Given the description of an element on the screen output the (x, y) to click on. 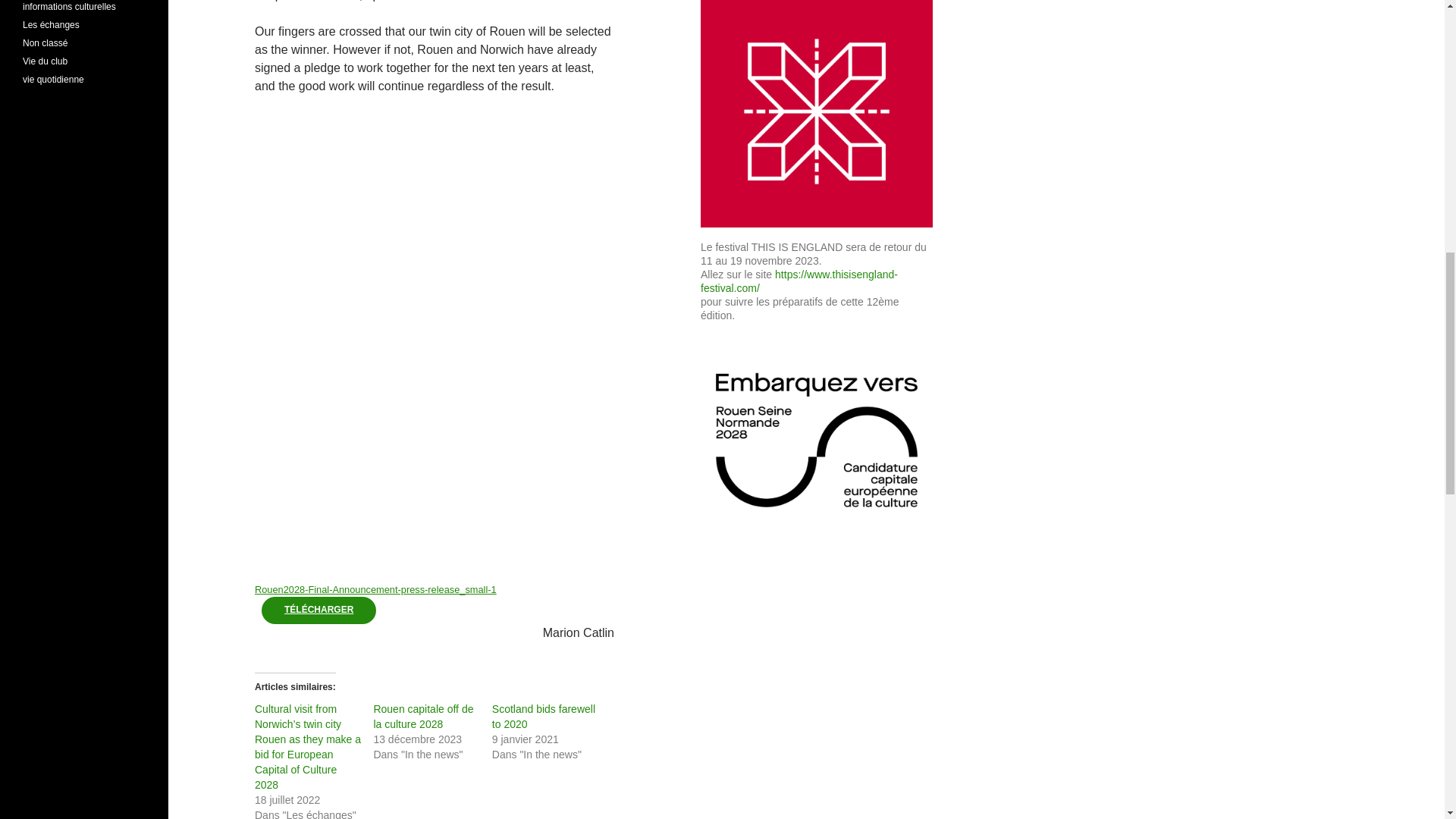
Scotland bids farewell to 2020 (543, 716)
Rouen capitale off de la culture 2028 (422, 716)
Rouen capitale off de la culture 2028 (422, 716)
Scotland bids farewell to 2020 (543, 716)
